Given the description of an element on the screen output the (x, y) to click on. 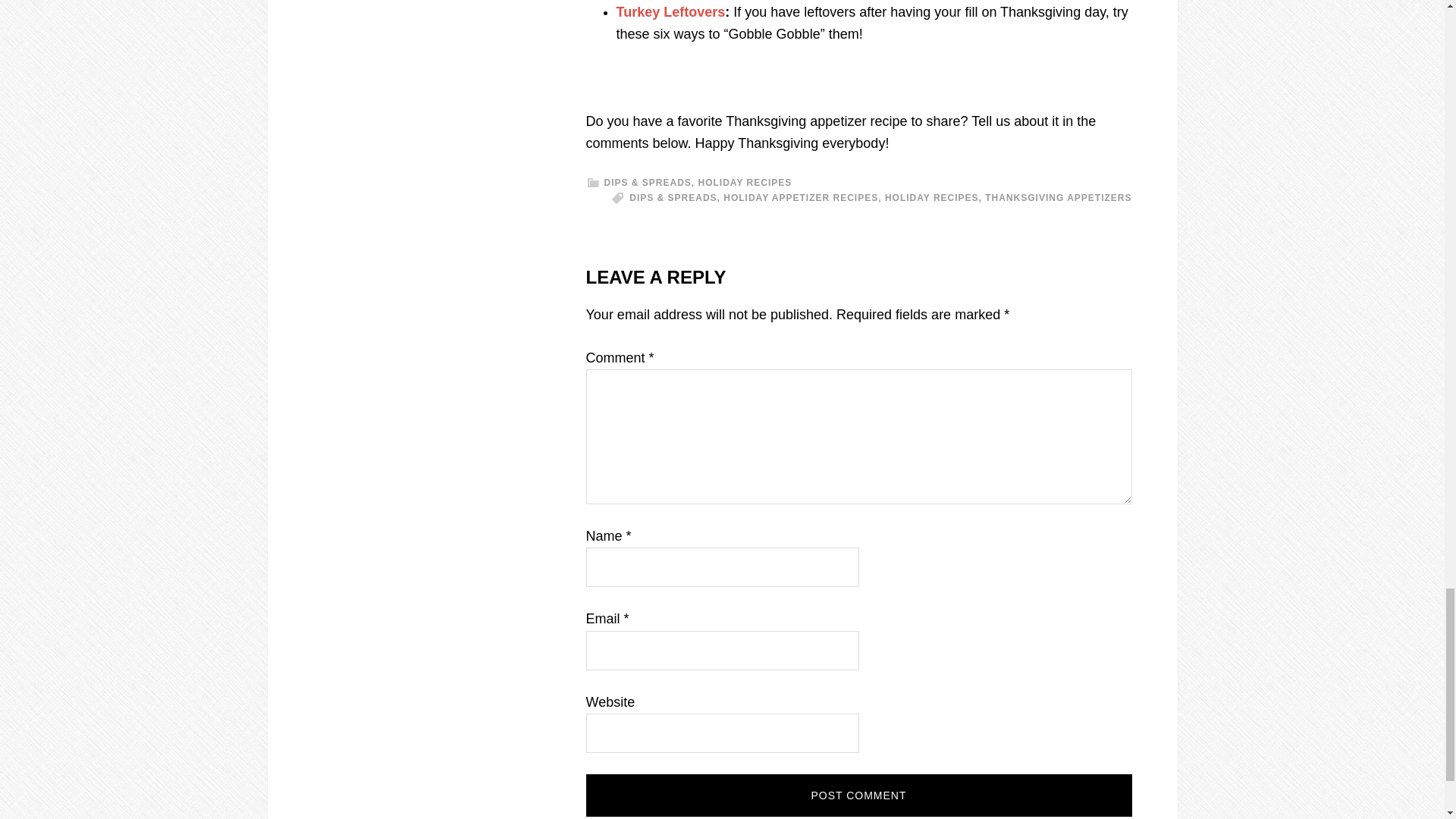
Turkey Leftovers (670, 11)
HOLIDAY RECIPES (745, 182)
Post Comment (858, 794)
HOLIDAY RECIPES (931, 197)
Post Comment (858, 794)
HOLIDAY APPETIZER RECIPES (800, 197)
THANKSGIVING APPETIZERS (1058, 197)
